Given the description of an element on the screen output the (x, y) to click on. 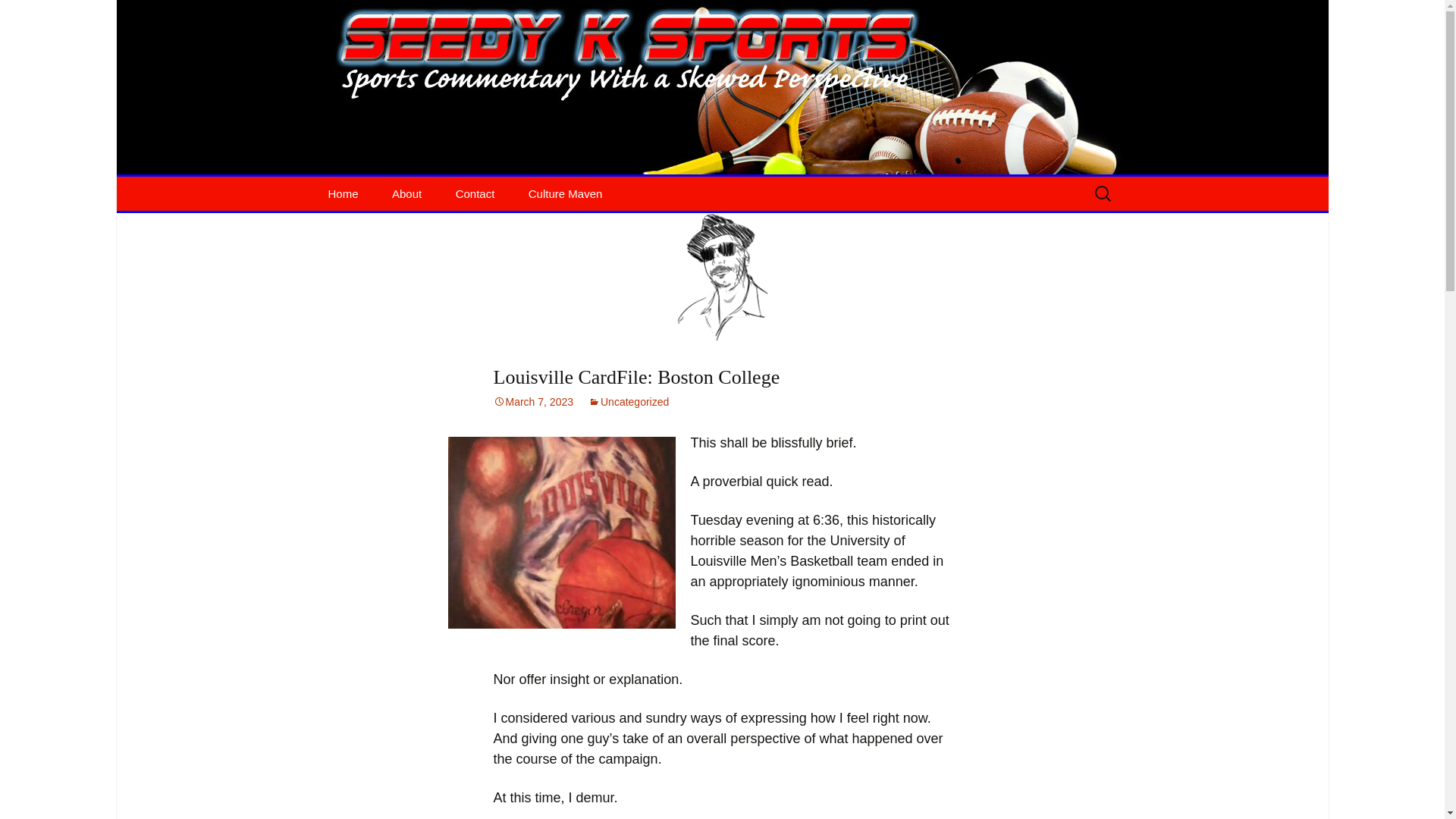
Search (34, 15)
Home (628, 401)
Contact (342, 193)
Skip to content (476, 193)
March 7, 2023 (18, 15)
Permalink to Louisville CardFile: Boston College (533, 401)
Culture Maven (533, 401)
About (565, 193)
